Given the description of an element on the screen output the (x, y) to click on. 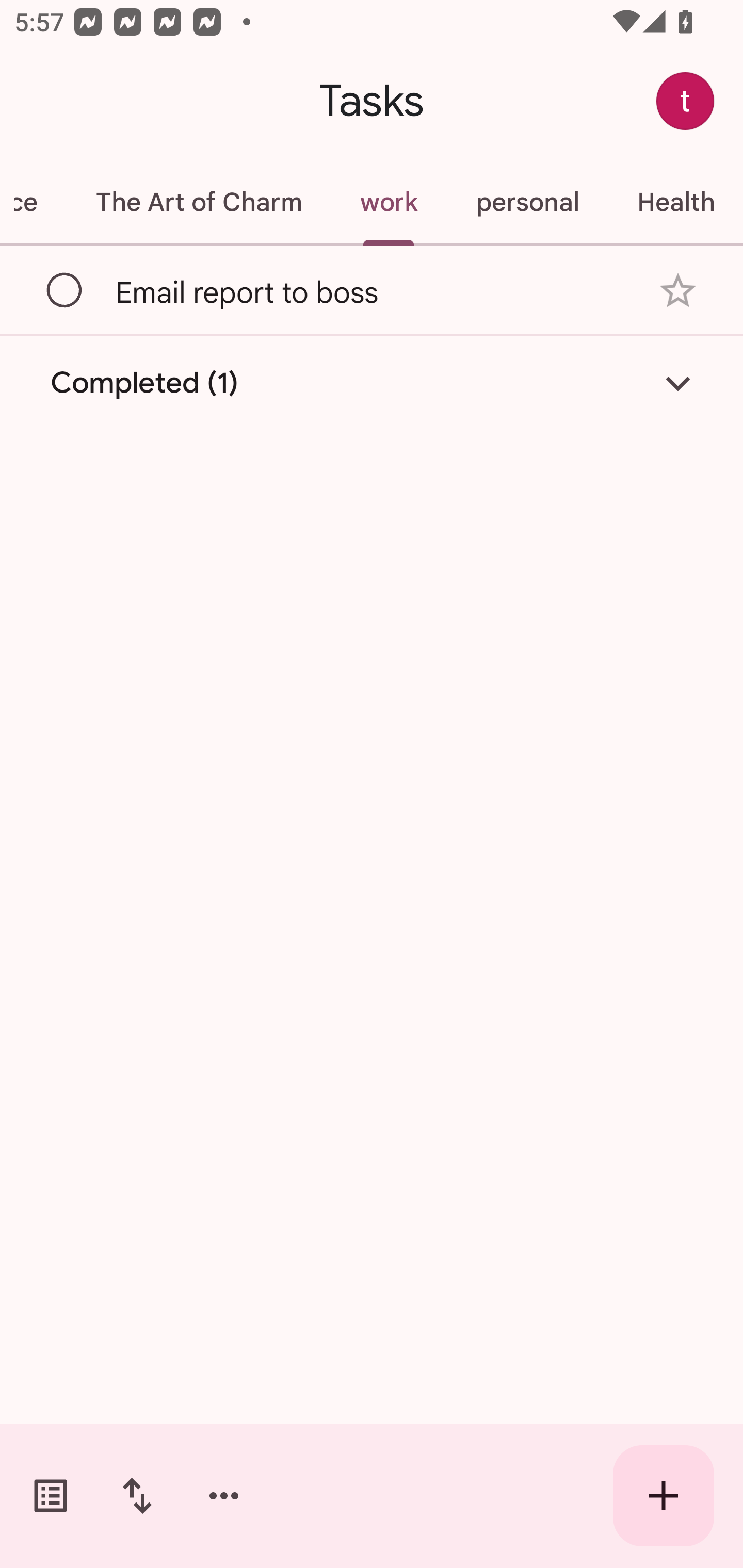
The Art of Charm (198, 202)
personal (526, 202)
Health (675, 202)
Add star (677, 290)
Mark as complete (64, 290)
Completed (1) (371, 382)
Switch task lists (50, 1495)
Create new task (663, 1495)
Change sort order (136, 1495)
More options (223, 1495)
